Given the description of an element on the screen output the (x, y) to click on. 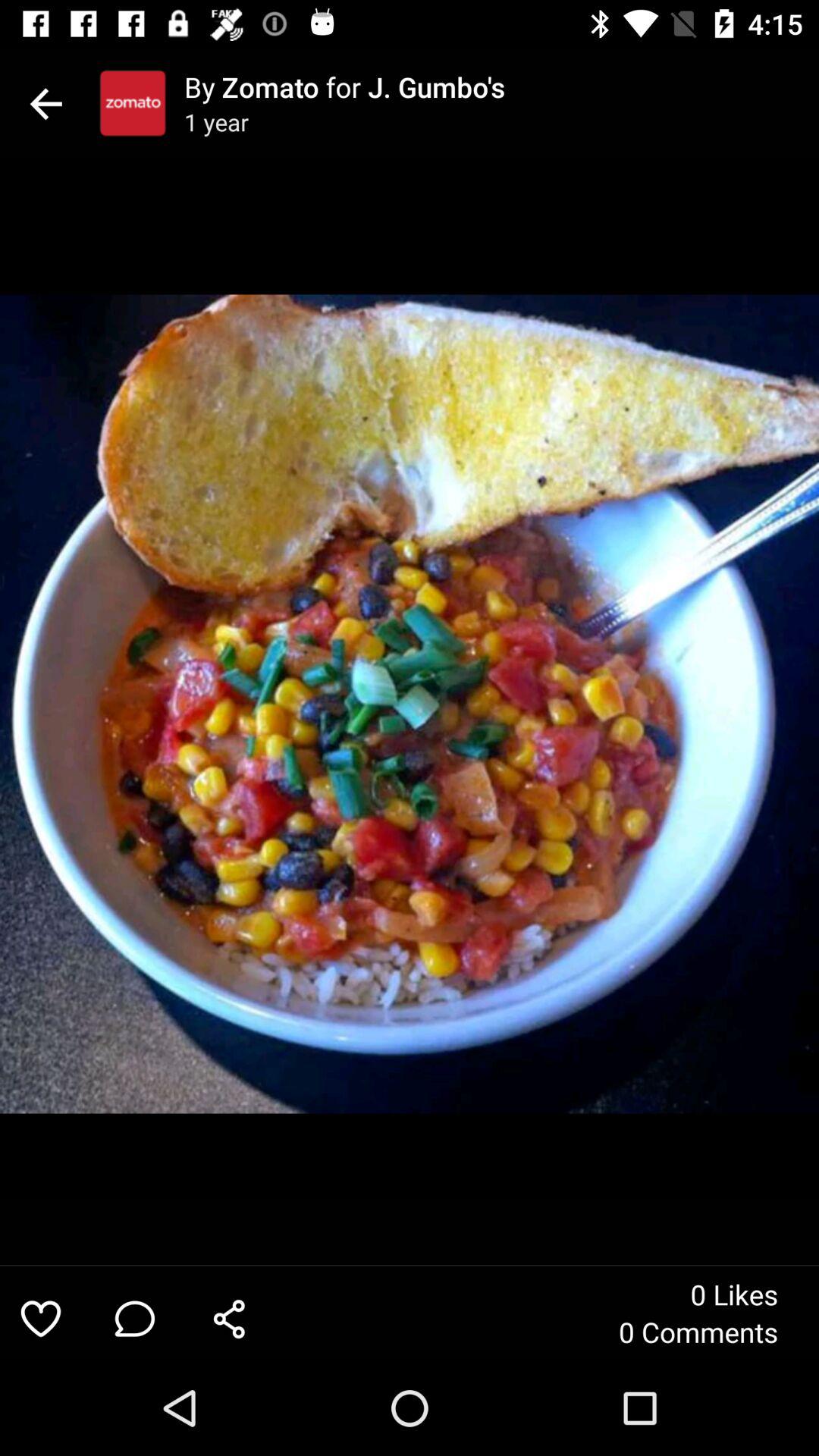
click item above 1 year icon (501, 86)
